Given the description of an element on the screen output the (x, y) to click on. 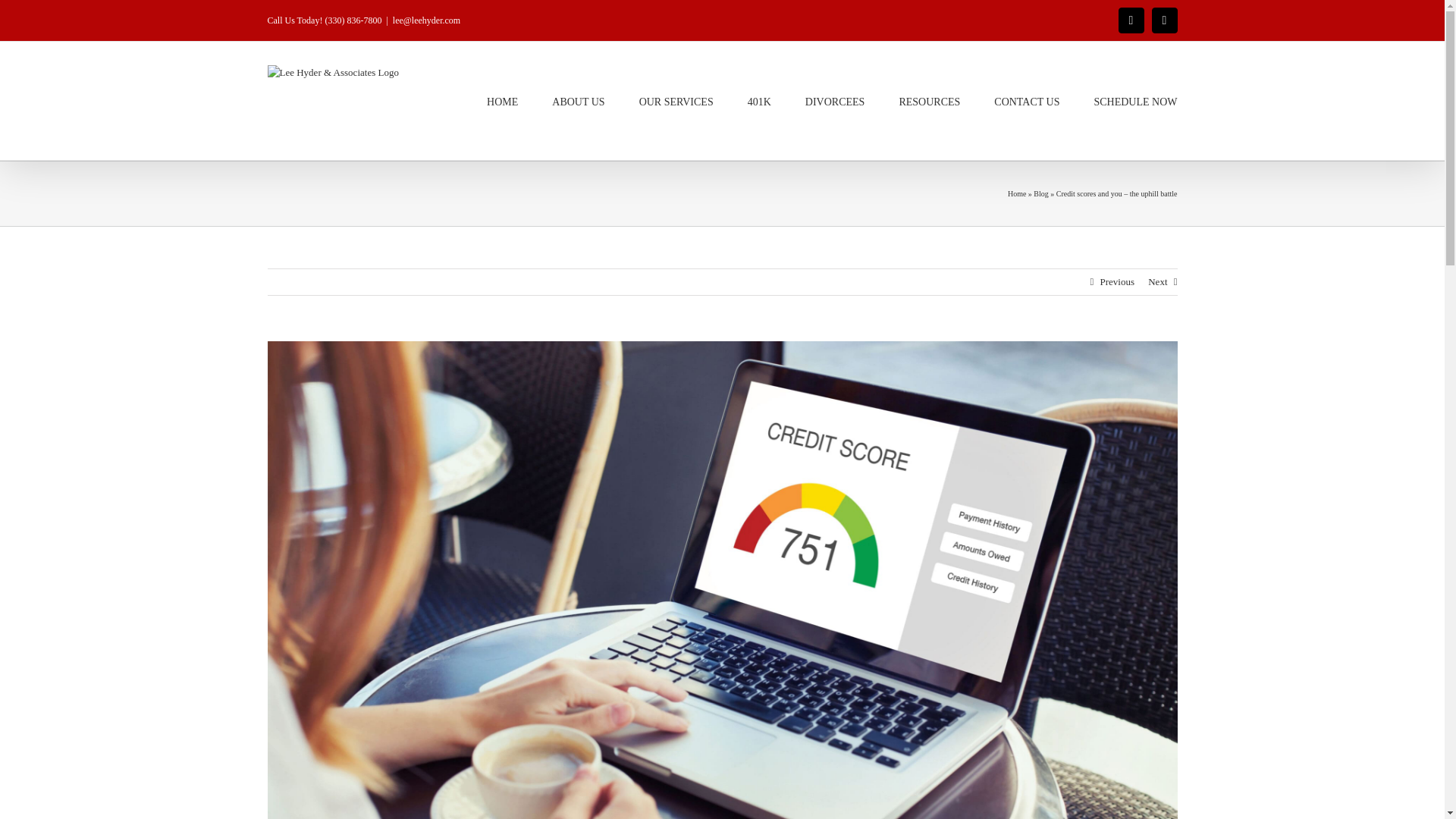
Facebook (1164, 20)
Facebook (1164, 20)
YouTube (1131, 20)
Blog (1040, 193)
Home (1016, 193)
YouTube (1131, 20)
Previous (1116, 281)
